Given the description of an element on the screen output the (x, y) to click on. 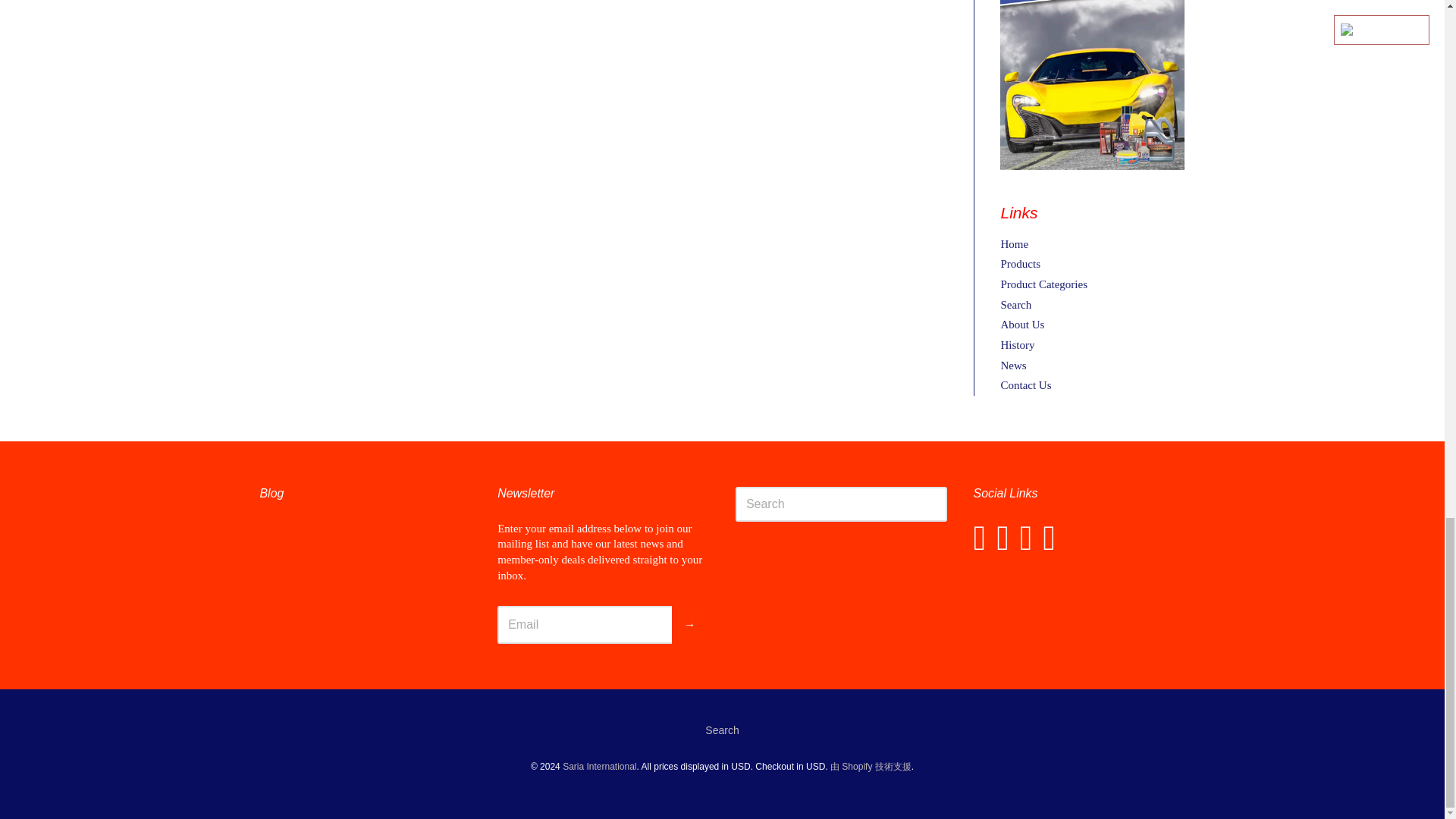
        Made in USA (1092, 84)
